Given the description of an element on the screen output the (x, y) to click on. 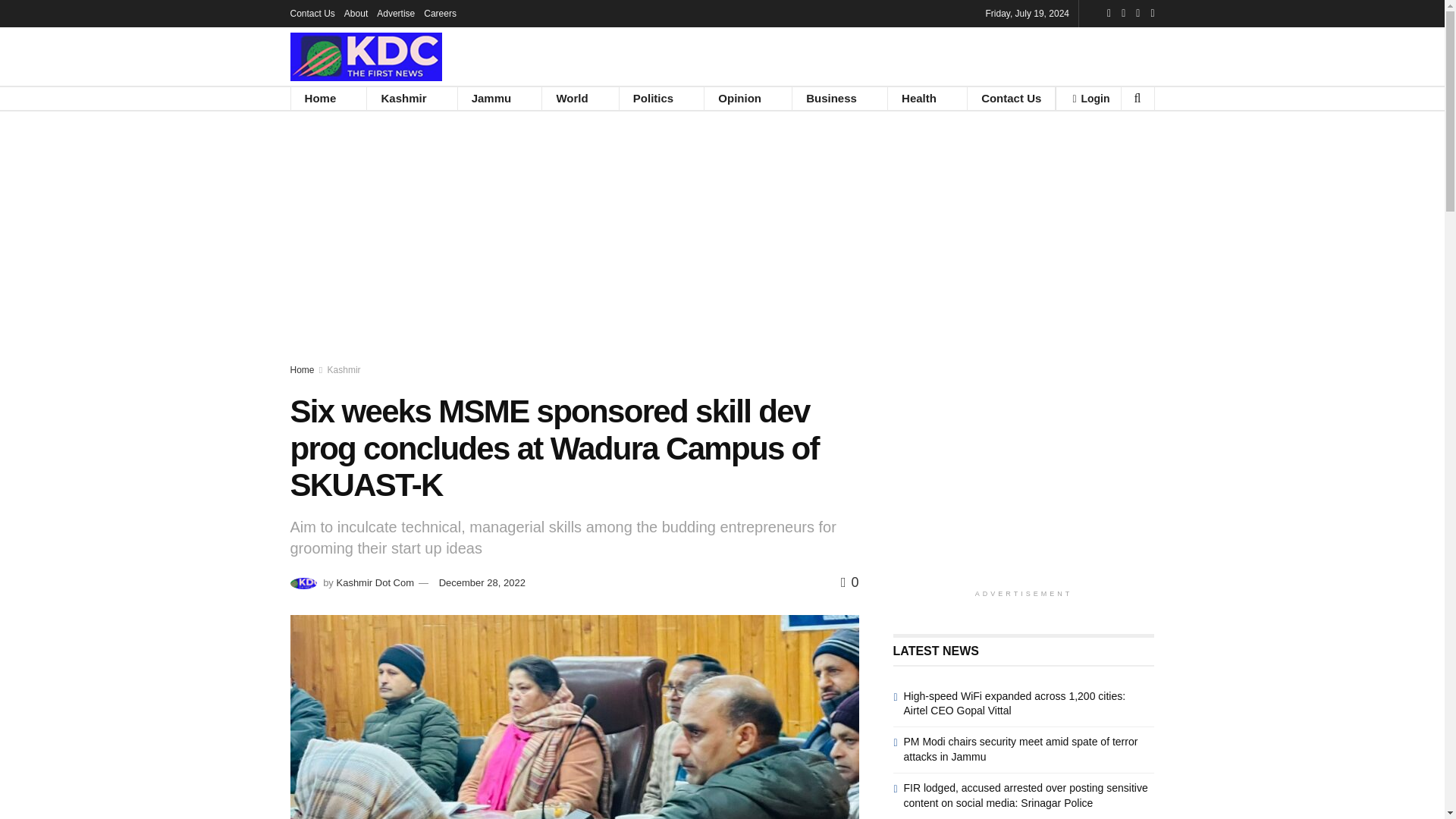
Advertise (395, 13)
Advertisement (1023, 475)
Home (320, 97)
Home (301, 369)
Politics (653, 97)
Business (831, 97)
Kashmir Dot Com (374, 582)
Contact Us (311, 13)
Contact Us (1011, 97)
Careers (440, 13)
World (571, 97)
Kashmir (402, 97)
December 28, 2022 (482, 582)
Kashmir (344, 369)
